Given the description of an element on the screen output the (x, y) to click on. 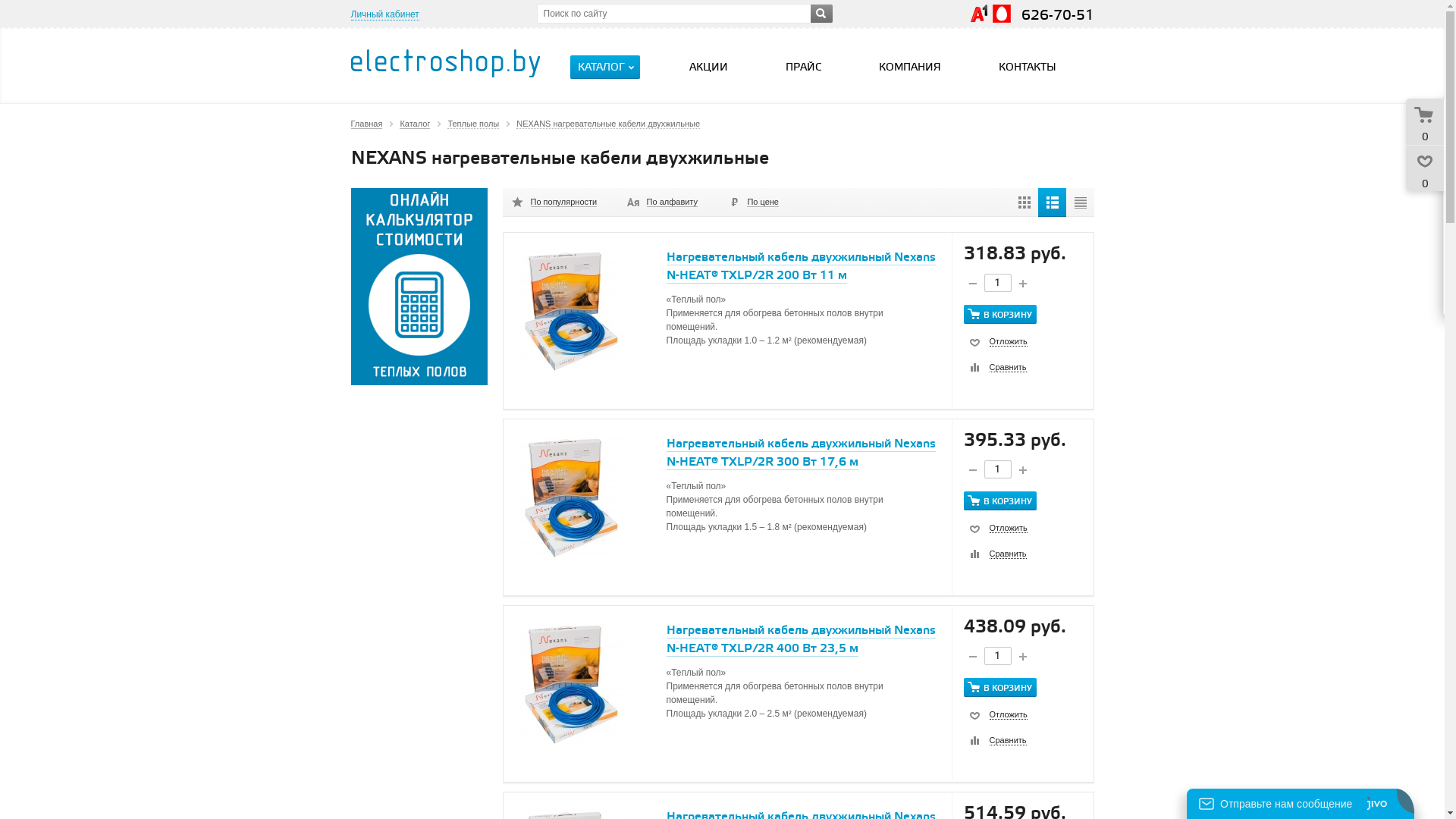
626-70-51 Element type: text (1056, 15)
